Given the description of an element on the screen output the (x, y) to click on. 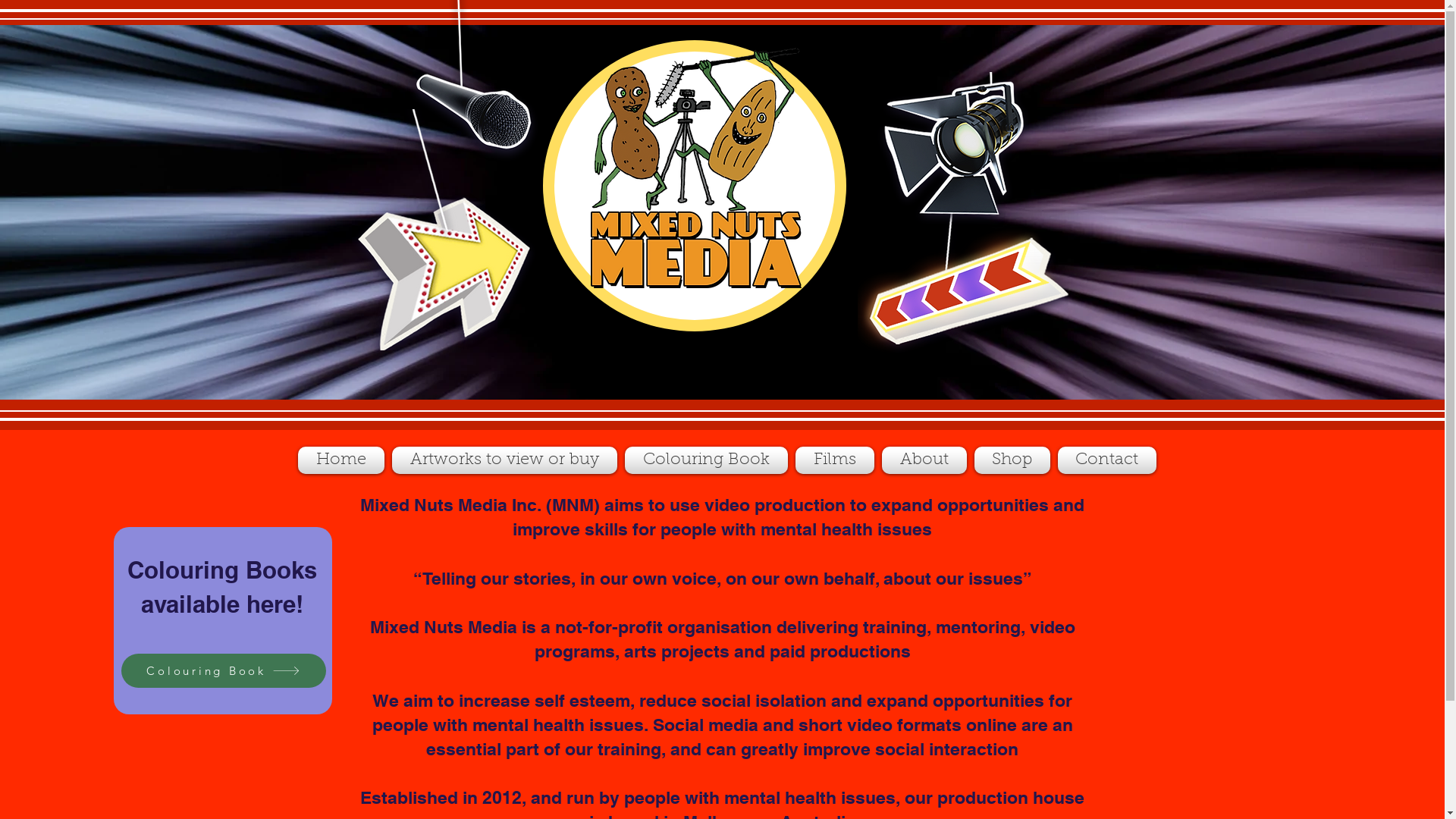
Colouring Book Element type: text (223, 670)
Contact Element type: text (1105, 459)
Shop Element type: text (1012, 459)
Home Element type: text (342, 459)
Colouring Book Element type: text (705, 459)
Films Element type: text (834, 459)
About Element type: text (924, 459)
Artworks to view or buy Element type: text (504, 459)
